Given the description of an element on the screen output the (x, y) to click on. 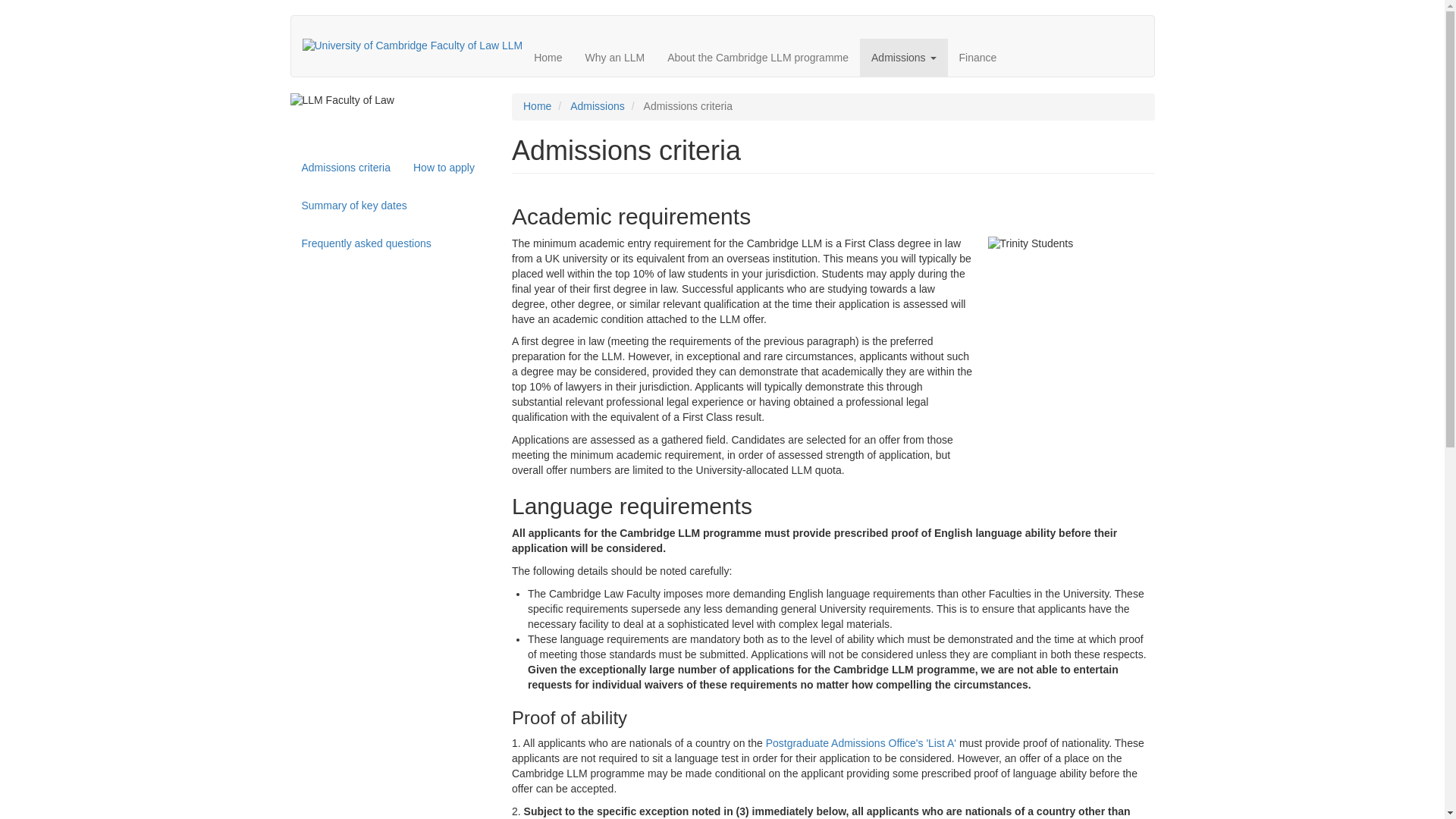
Frequently asked questions (365, 243)
Summary of key dates (353, 205)
Admissions (597, 105)
Home (536, 105)
Home (547, 57)
Postgraduate Admissions Office's 'List A' (860, 743)
Admissions criteria (345, 167)
How to apply (443, 167)
Finance (978, 57)
Admissions (903, 57)
